Given the description of an element on the screen output the (x, y) to click on. 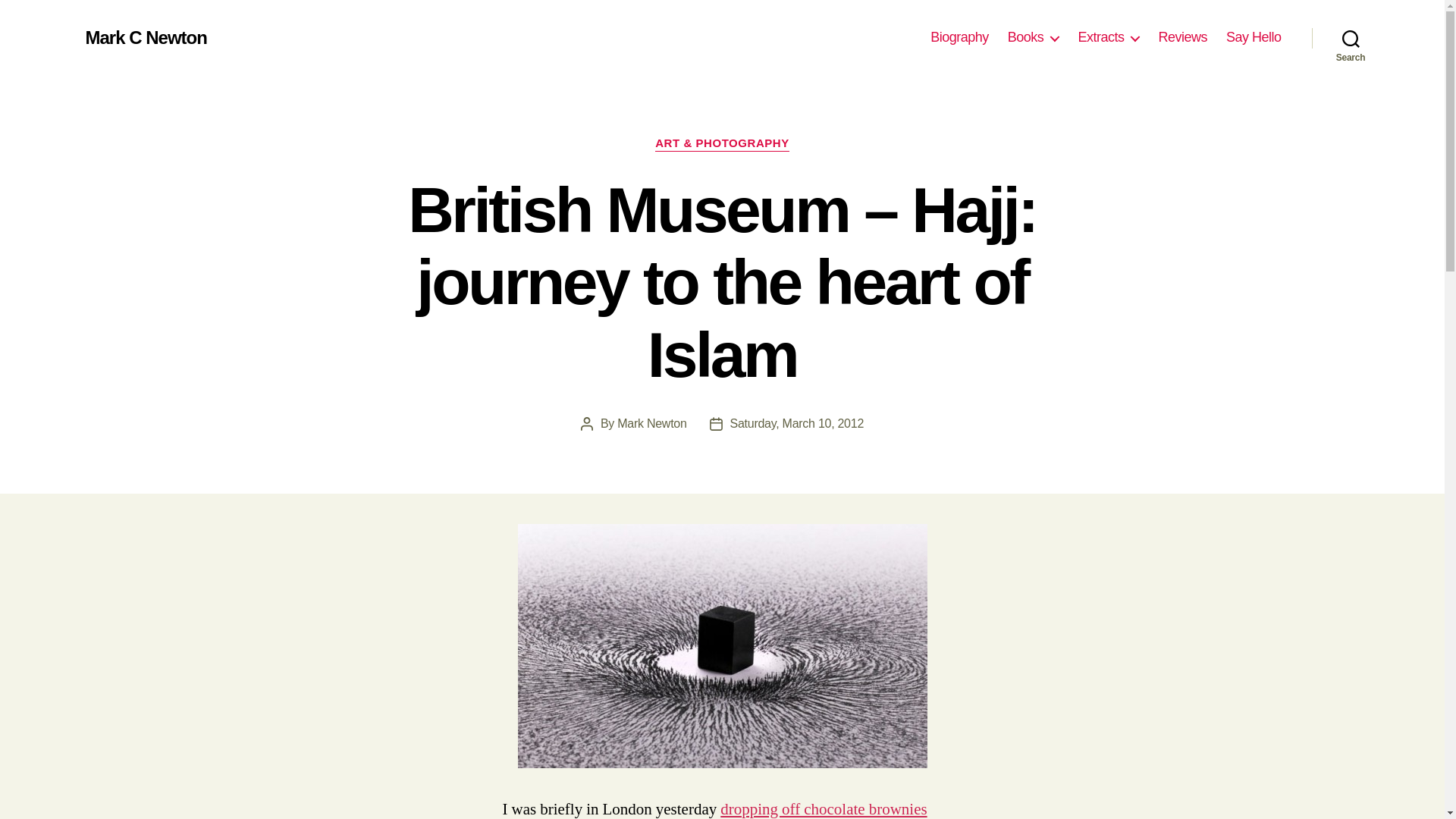
Books (1033, 37)
Ahmed Mater's Magnetism (721, 646)
Say Hello (1253, 37)
dropping off chocolate brownies (823, 809)
Search (1350, 37)
Saturday, March 10, 2012 (796, 422)
Reviews (1182, 37)
Mark Newton (651, 422)
Mark C Newton (145, 37)
Extracts (1107, 37)
